Given the description of an element on the screen output the (x, y) to click on. 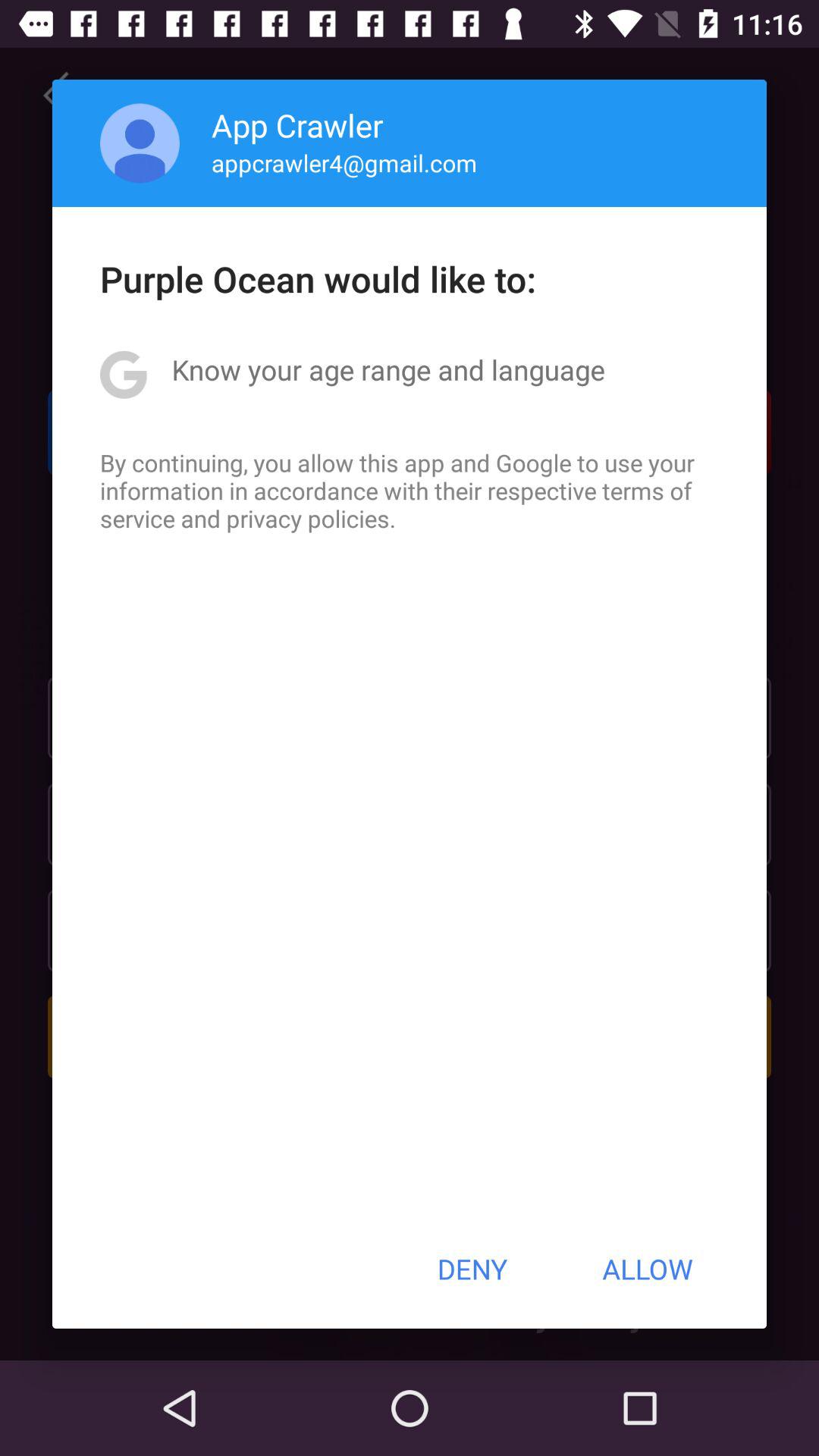
turn on the item above purple ocean would icon (344, 162)
